Given the description of an element on the screen output the (x, y) to click on. 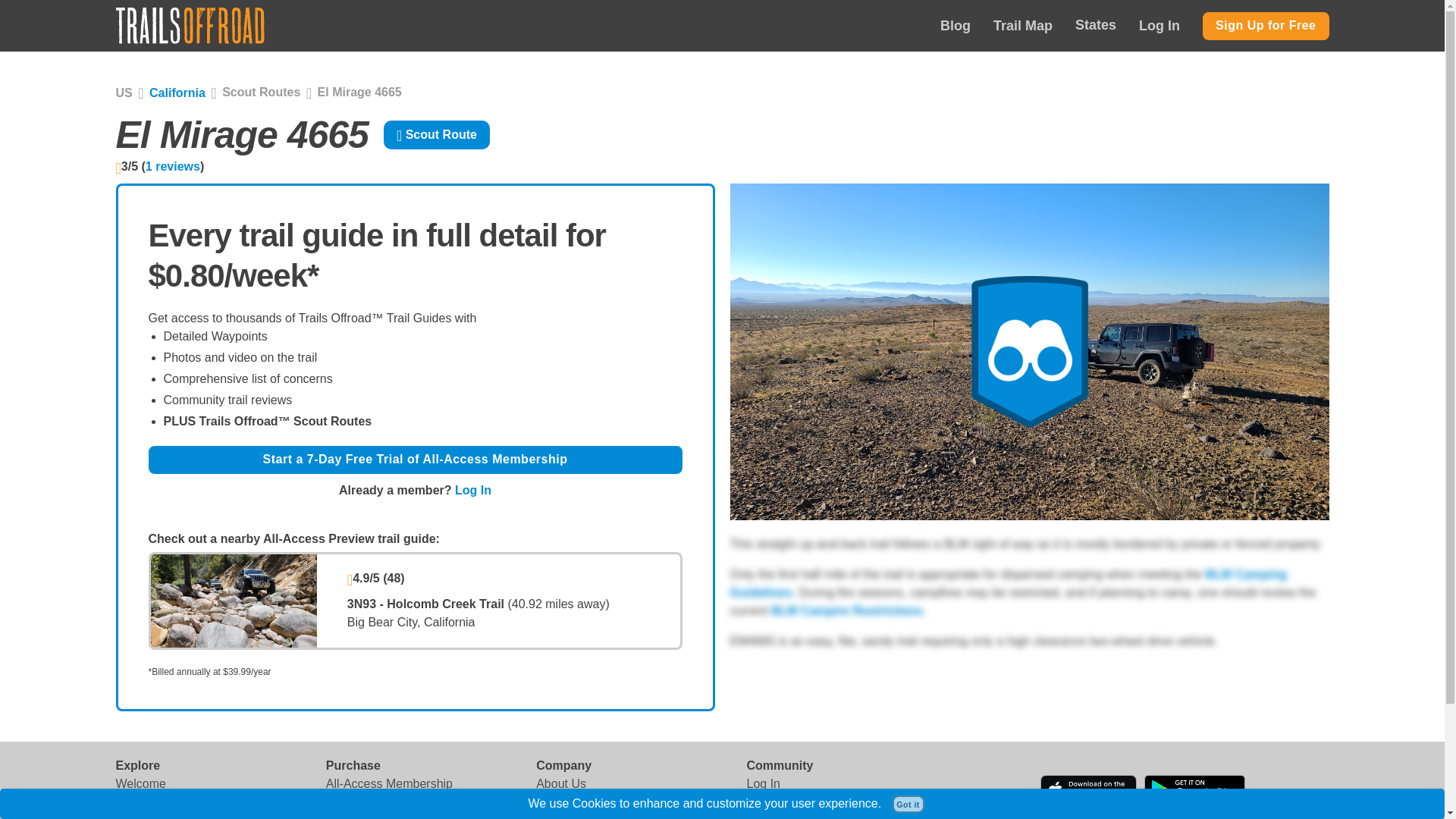
About Us (560, 783)
BLM Campire Restrictions (847, 610)
BLM Camping Guidelines. (1008, 583)
Write for Us (567, 805)
Blog (955, 25)
Gift Memberships (373, 805)
Got it (908, 804)
Trail Map (1022, 25)
Map of Trails (149, 805)
